Given the description of an element on the screen output the (x, y) to click on. 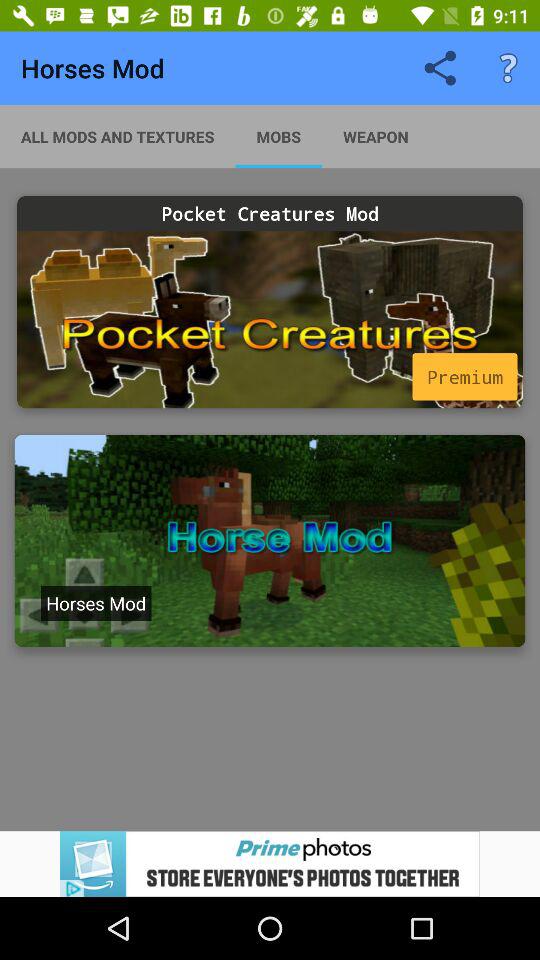
open horses mod (269, 541)
